Given the description of an element on the screen output the (x, y) to click on. 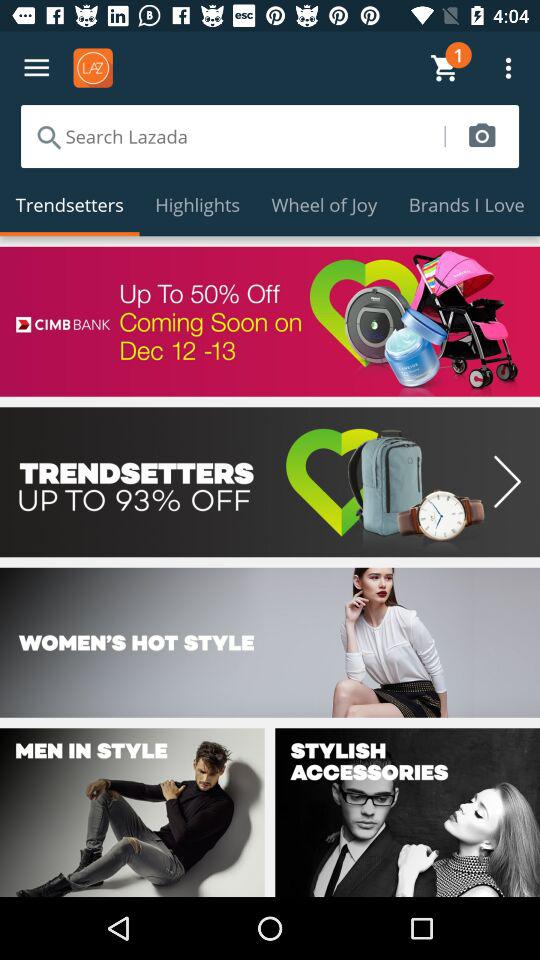
click the search option (232, 136)
